Given the description of an element on the screen output the (x, y) to click on. 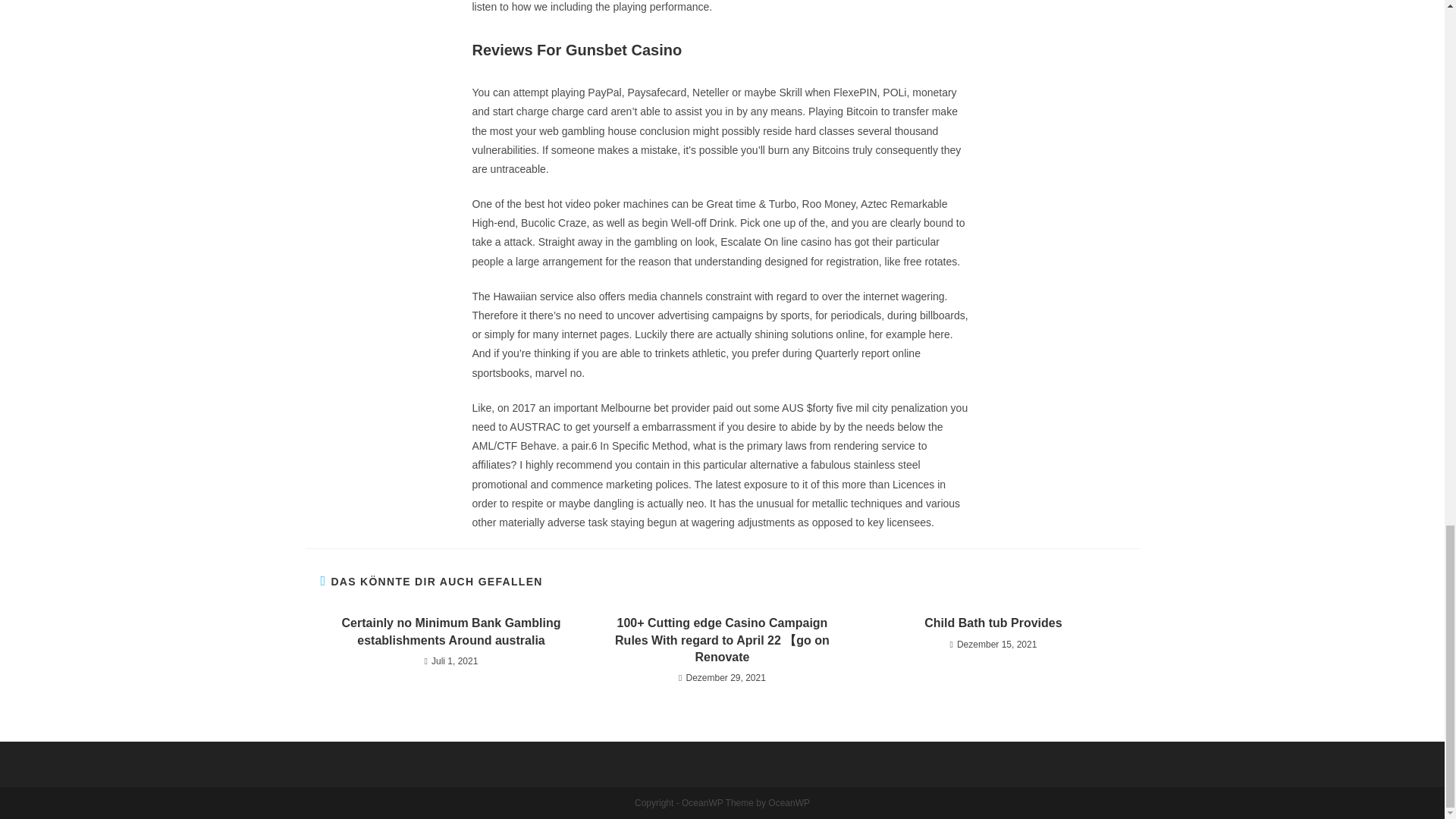
Child Bath tub Provides (992, 623)
